Given the description of an element on the screen output the (x, y) to click on. 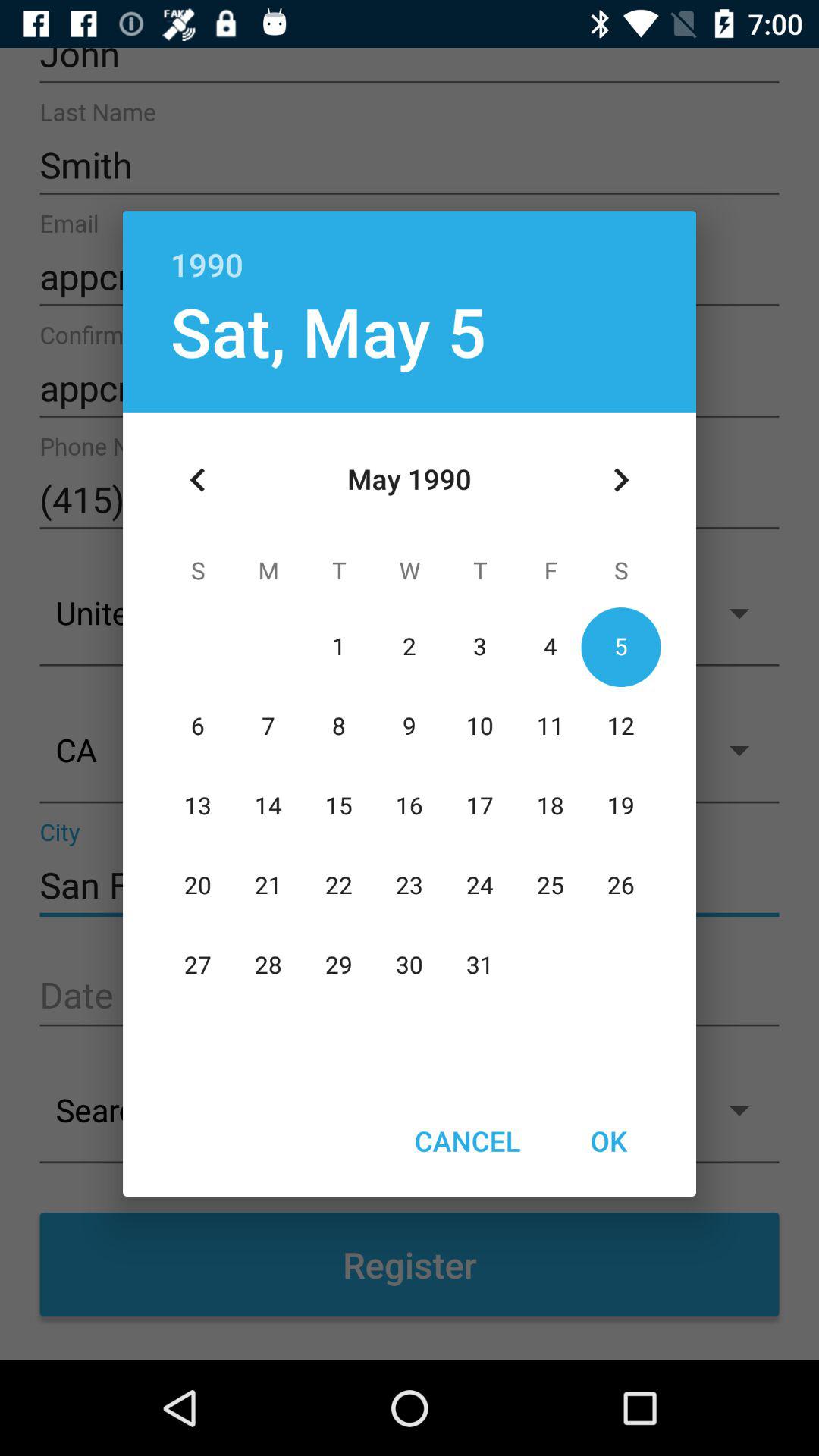
launch icon above the sat, may 5 (409, 248)
